Given the description of an element on the screen output the (x, y) to click on. 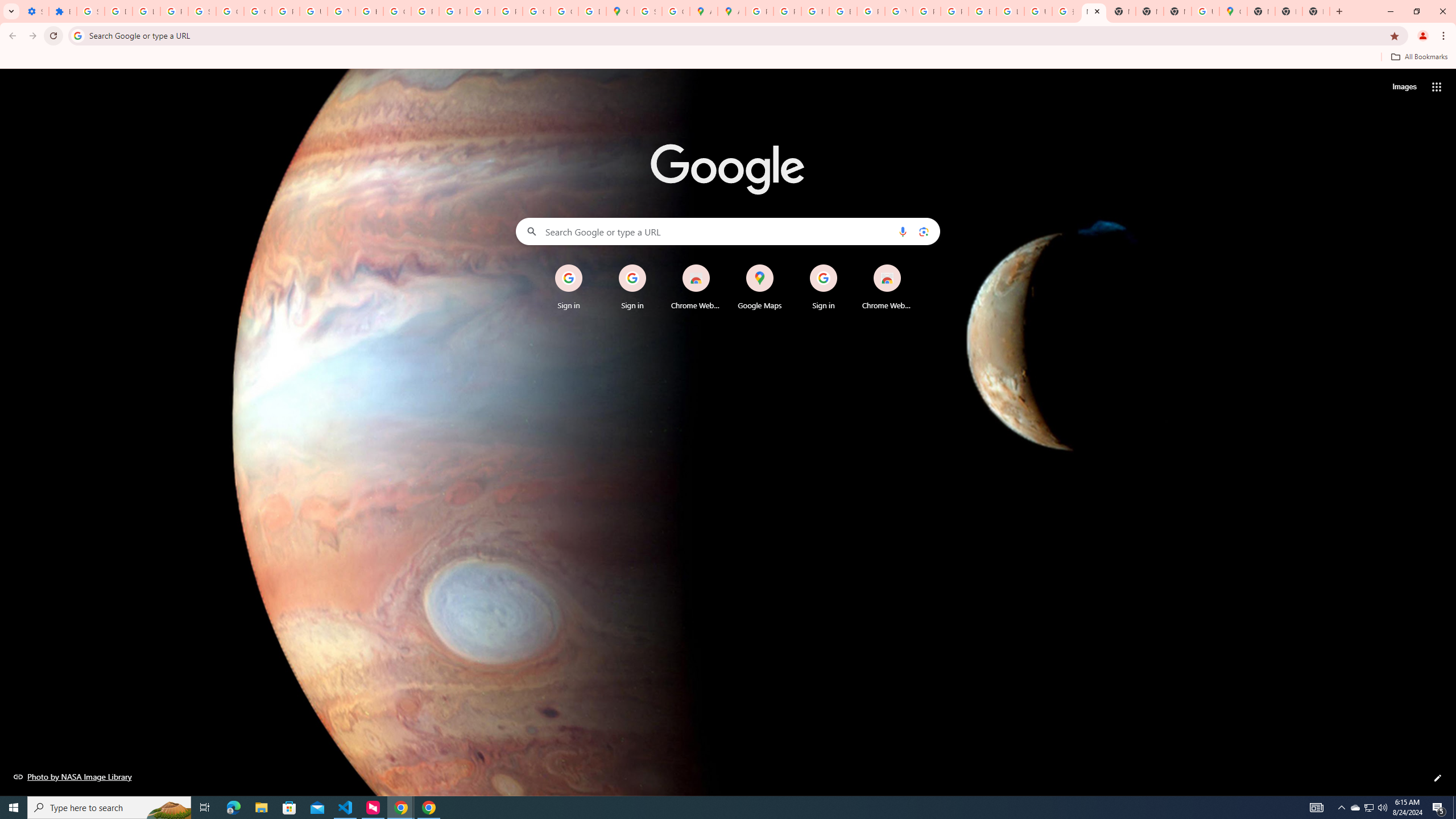
Remove (909, 265)
Privacy Help Center - Policies Help (787, 11)
Photo by NASA Image Library (72, 776)
Sign in - Google Accounts (90, 11)
